Given the description of an element on the screen output the (x, y) to click on. 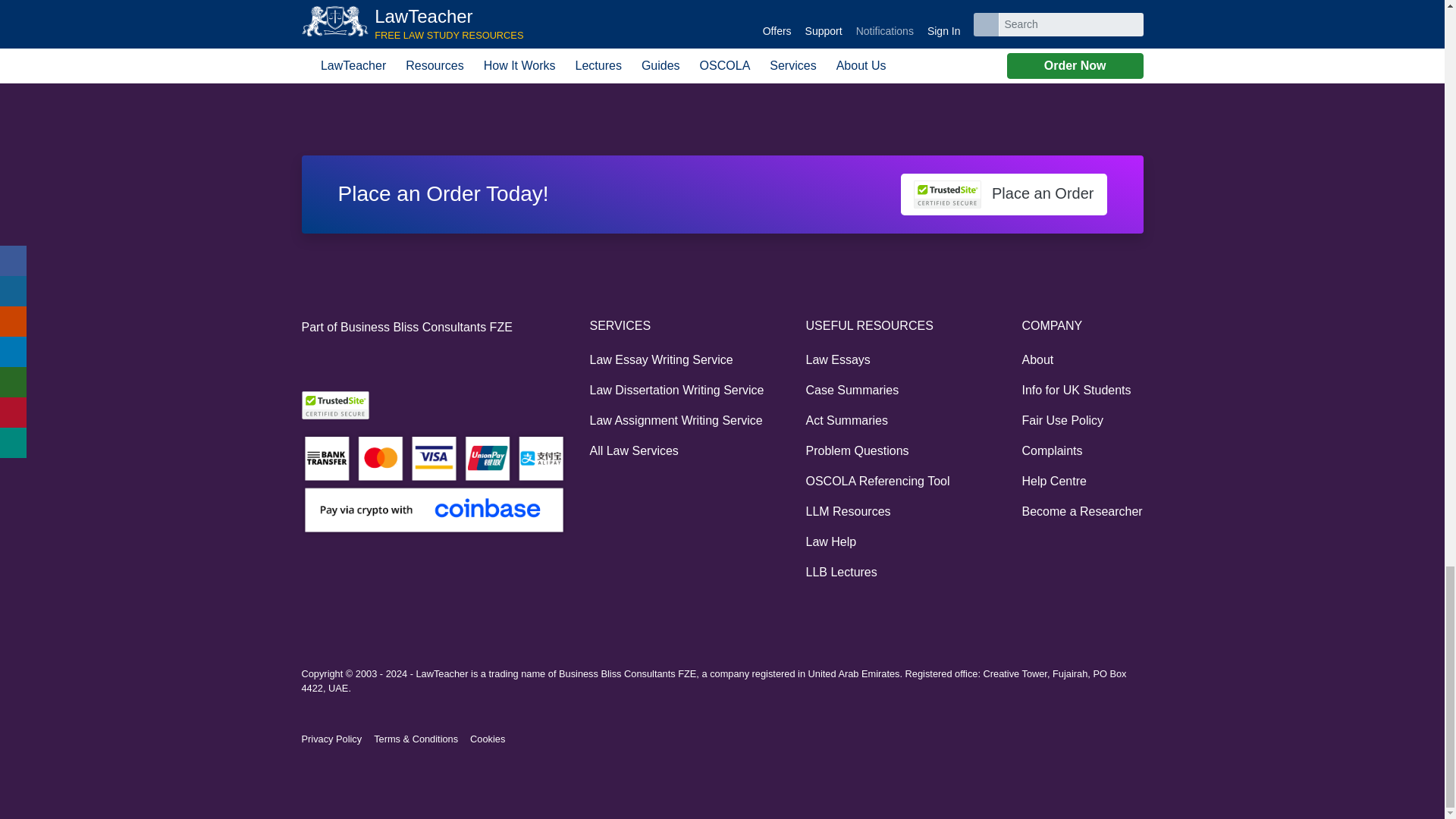
homepage link (309, 66)
